Given the description of an element on the screen output the (x, y) to click on. 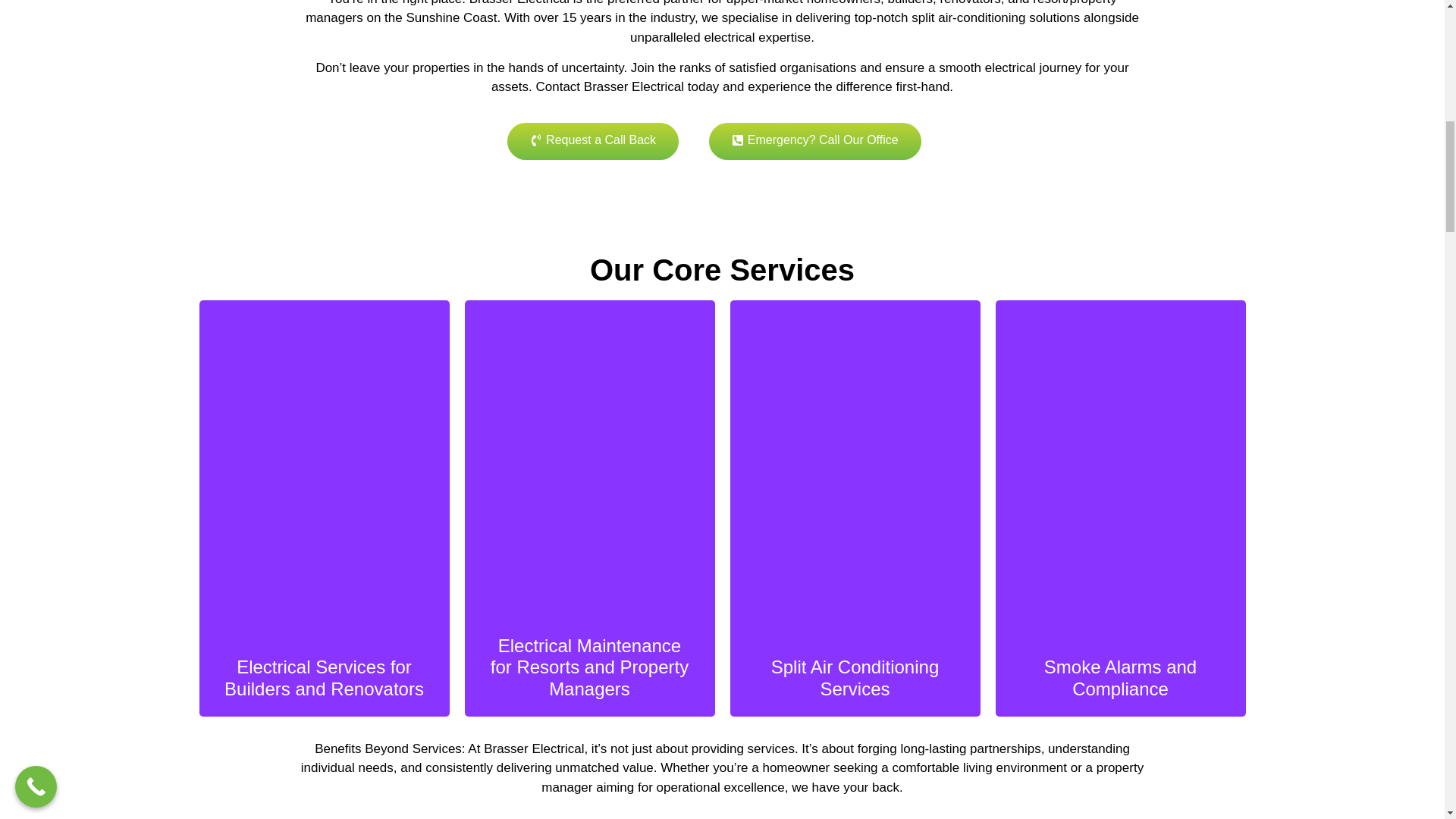
Click Here (1311, 279)
Emergency? Call Our Office (815, 140)
Request a Call Back (592, 140)
